Given the description of an element on the screen output the (x, y) to click on. 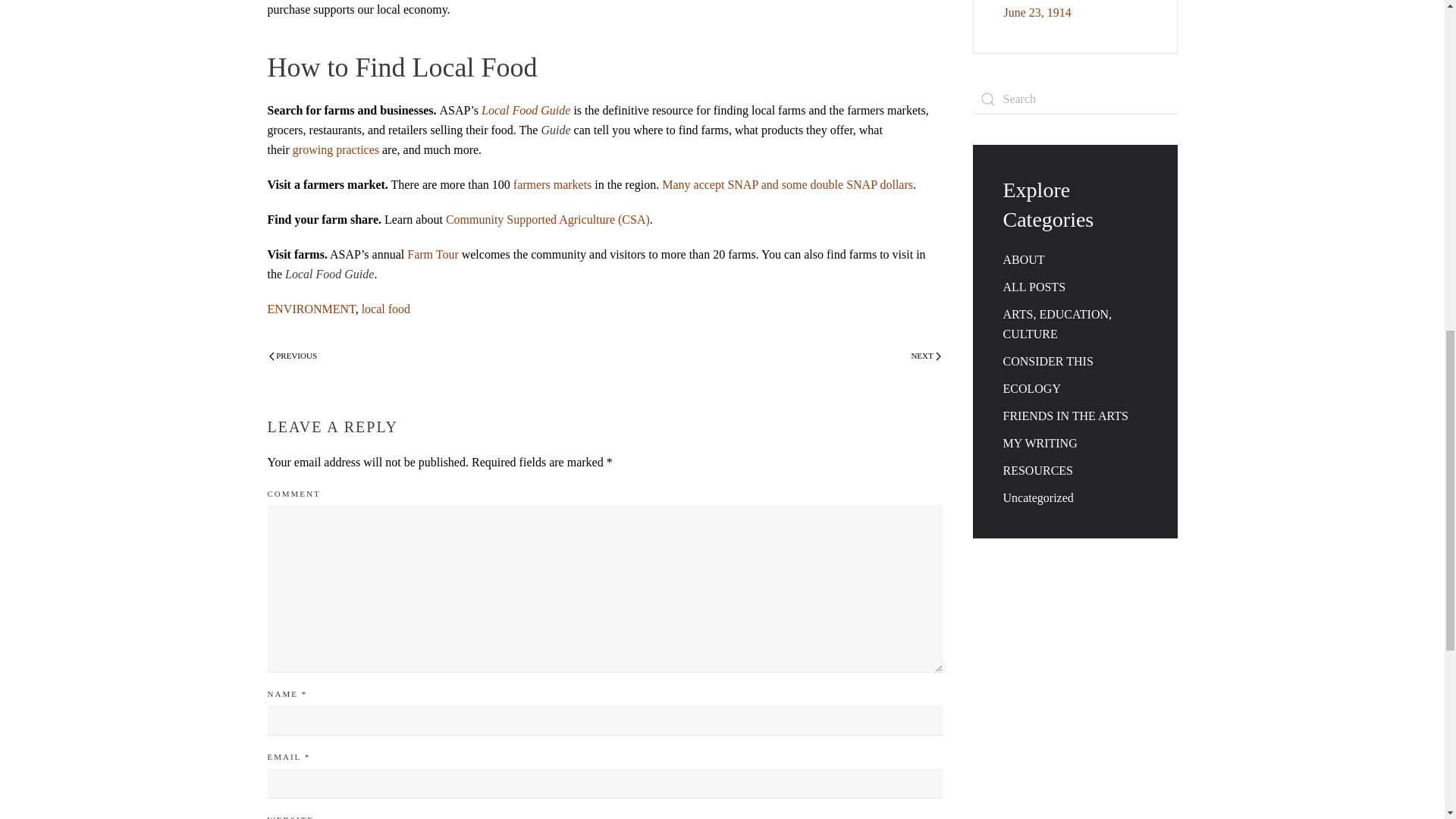
farmers markets (552, 184)
Local Food Guide (525, 110)
Farm Tour (432, 254)
NEXT (925, 356)
growing practices (335, 149)
Local Food Guide (329, 273)
Many accept SNAP and some double SNAP dollars (787, 184)
ENVIRONMENT (310, 308)
PREVIOUS (292, 356)
local food (385, 308)
